Given the description of an element on the screen output the (x, y) to click on. 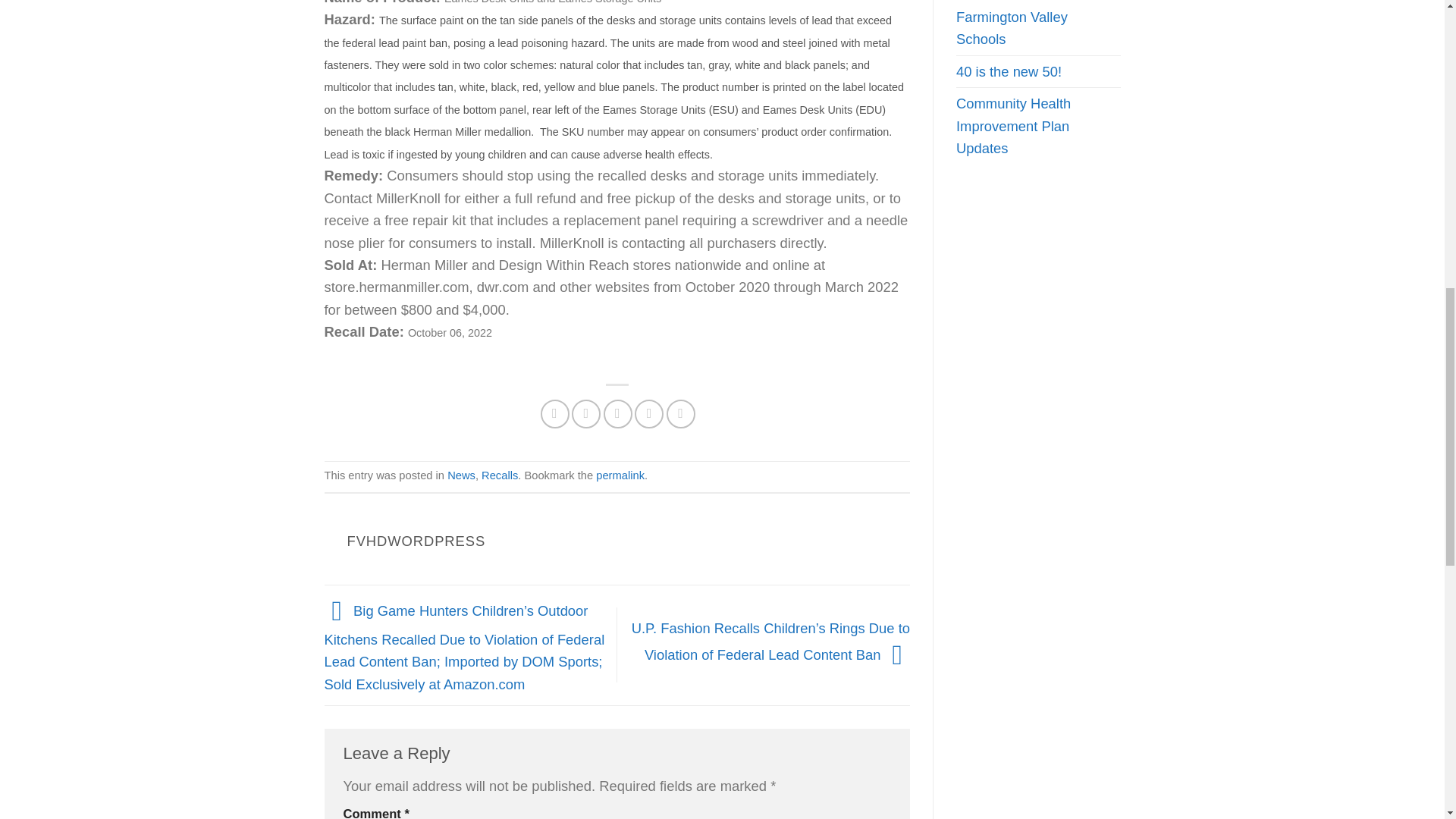
Email to a Friend (617, 413)
News (461, 475)
Share on Facebook (554, 413)
Pin on Pinterest (648, 413)
Share on Twitter (585, 413)
